Given the description of an element on the screen output the (x, y) to click on. 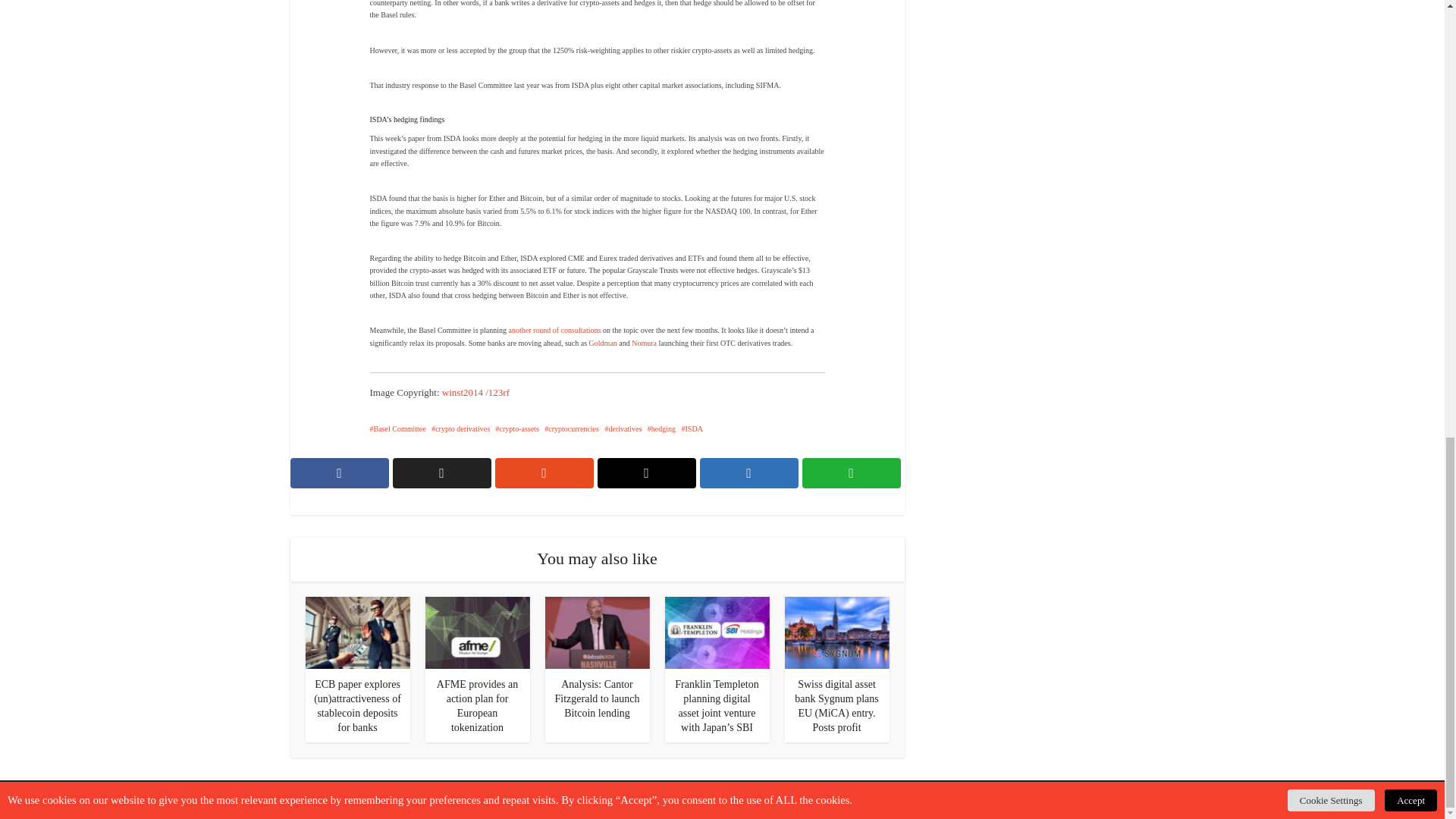
AFME provides an action plan for European tokenization (477, 705)
Analysis: Cantor Fitzgerald to launch Bitcoin lending (597, 698)
AFME provides an action plan for European tokenization (477, 632)
Analysis: Cantor Fitzgerald to launch Bitcoin lending (596, 632)
